Given the description of an element on the screen output the (x, y) to click on. 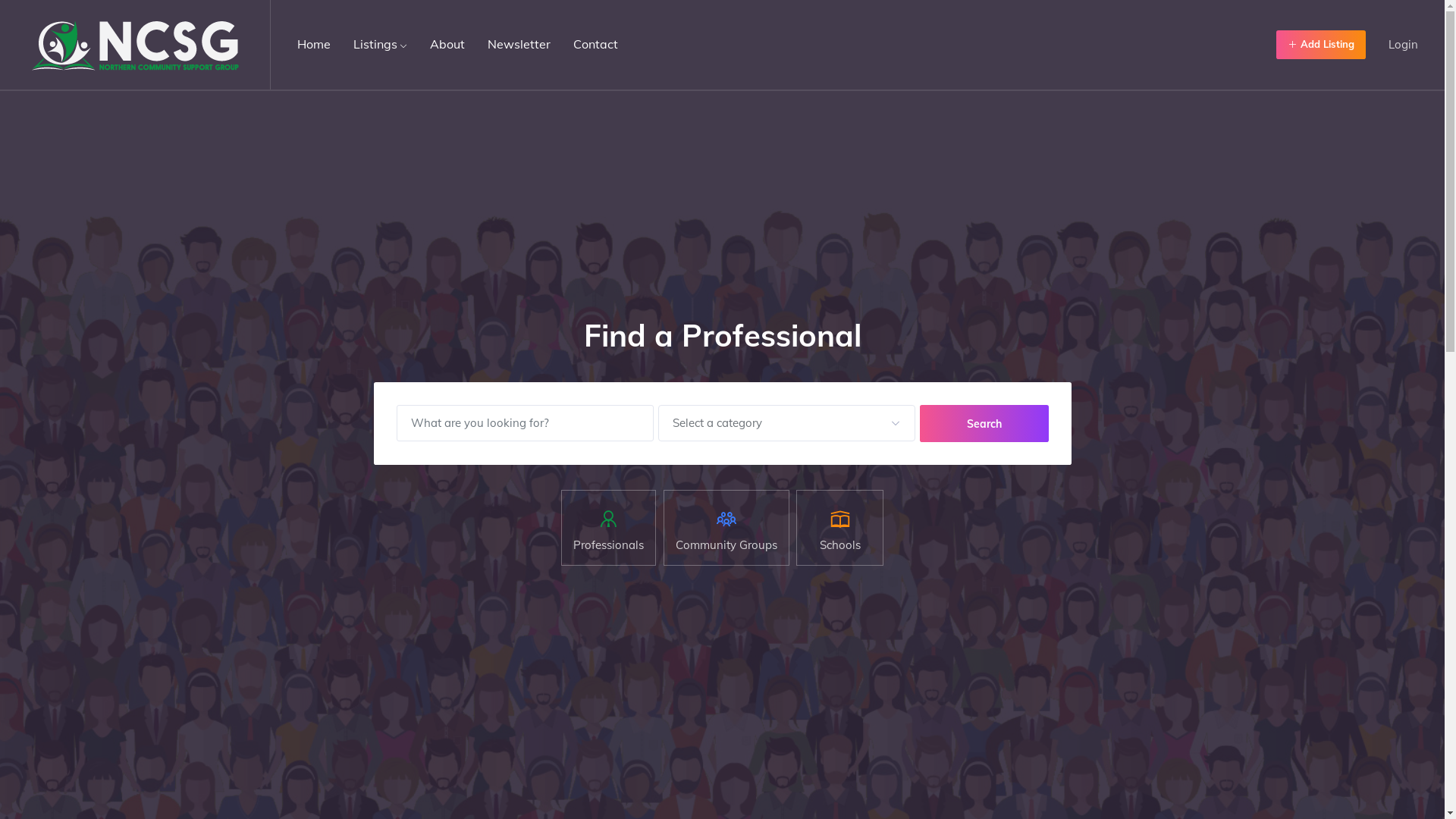
Professionals Element type: text (608, 527)
Home Element type: text (313, 43)
Schools Element type: text (839, 527)
Listings Element type: text (380, 43)
Community Groups Element type: text (725, 527)
Login Element type: text (1403, 44)
Newsletter Element type: text (518, 43)
Search Element type: text (983, 423)
Contact Element type: text (595, 43)
About Element type: text (446, 43)
Add Listing Element type: text (1320, 44)
